Given the description of an element on the screen output the (x, y) to click on. 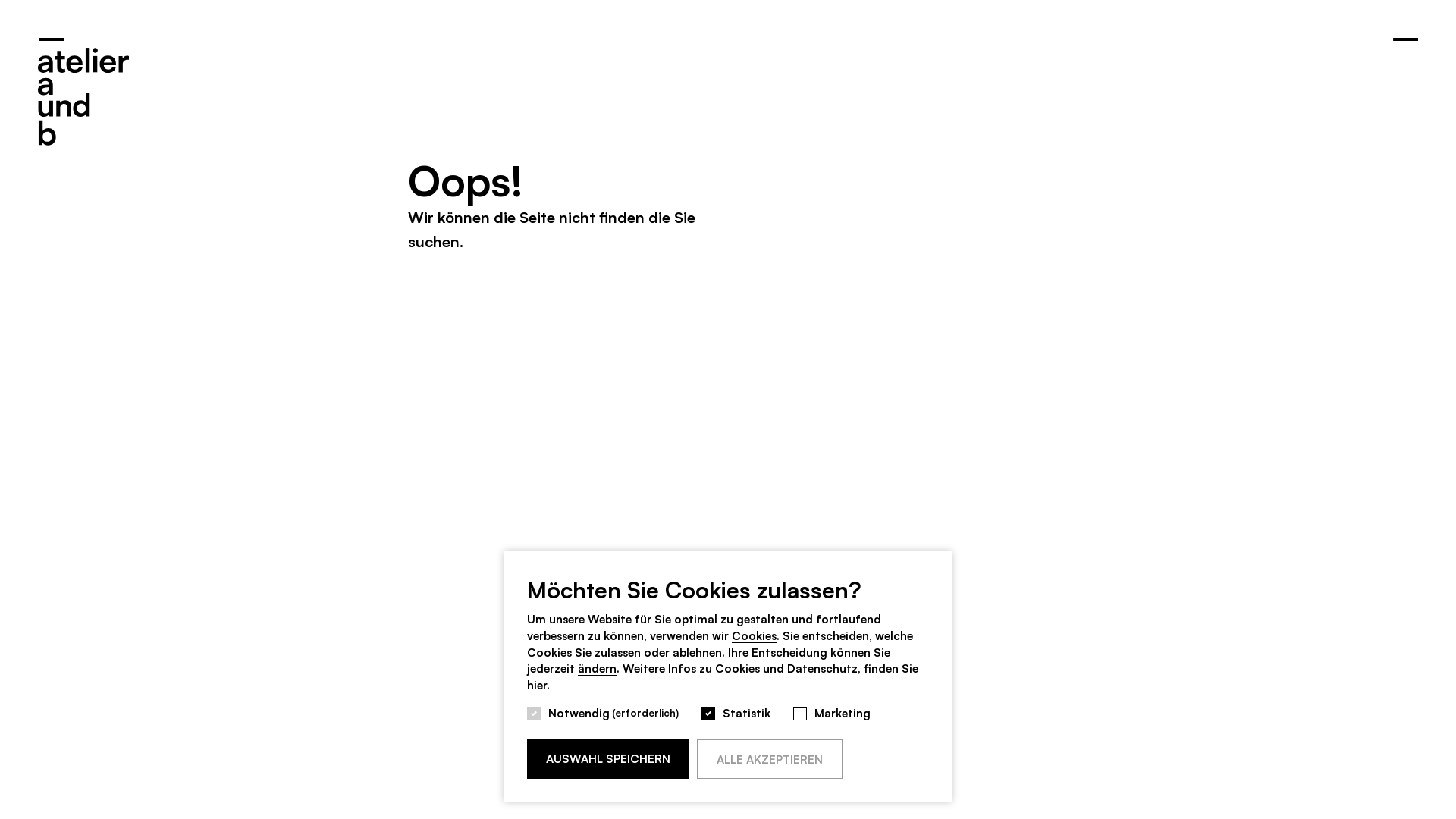
hier Element type: text (536, 684)
AUSWAHL SPEICHERN Element type: text (608, 758)
Atelier a und b Element type: hover (82, 91)
Cookies Element type: text (753, 635)
ALLE AKZEPTIEREN Element type: text (769, 758)
